Given the description of an element on the screen output the (x, y) to click on. 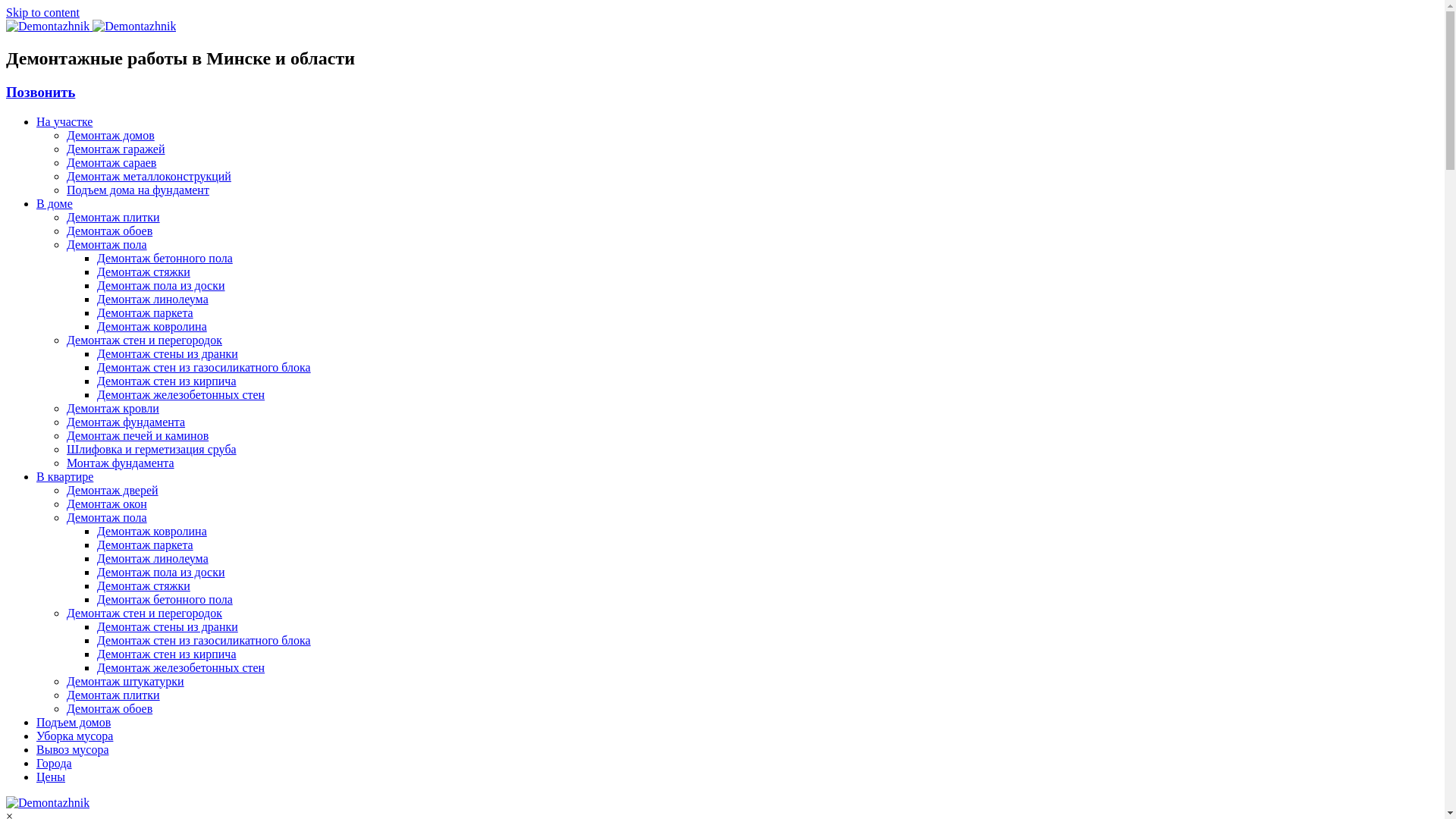
Skip to content Element type: text (42, 12)
